Given the description of an element on the screen output the (x, y) to click on. 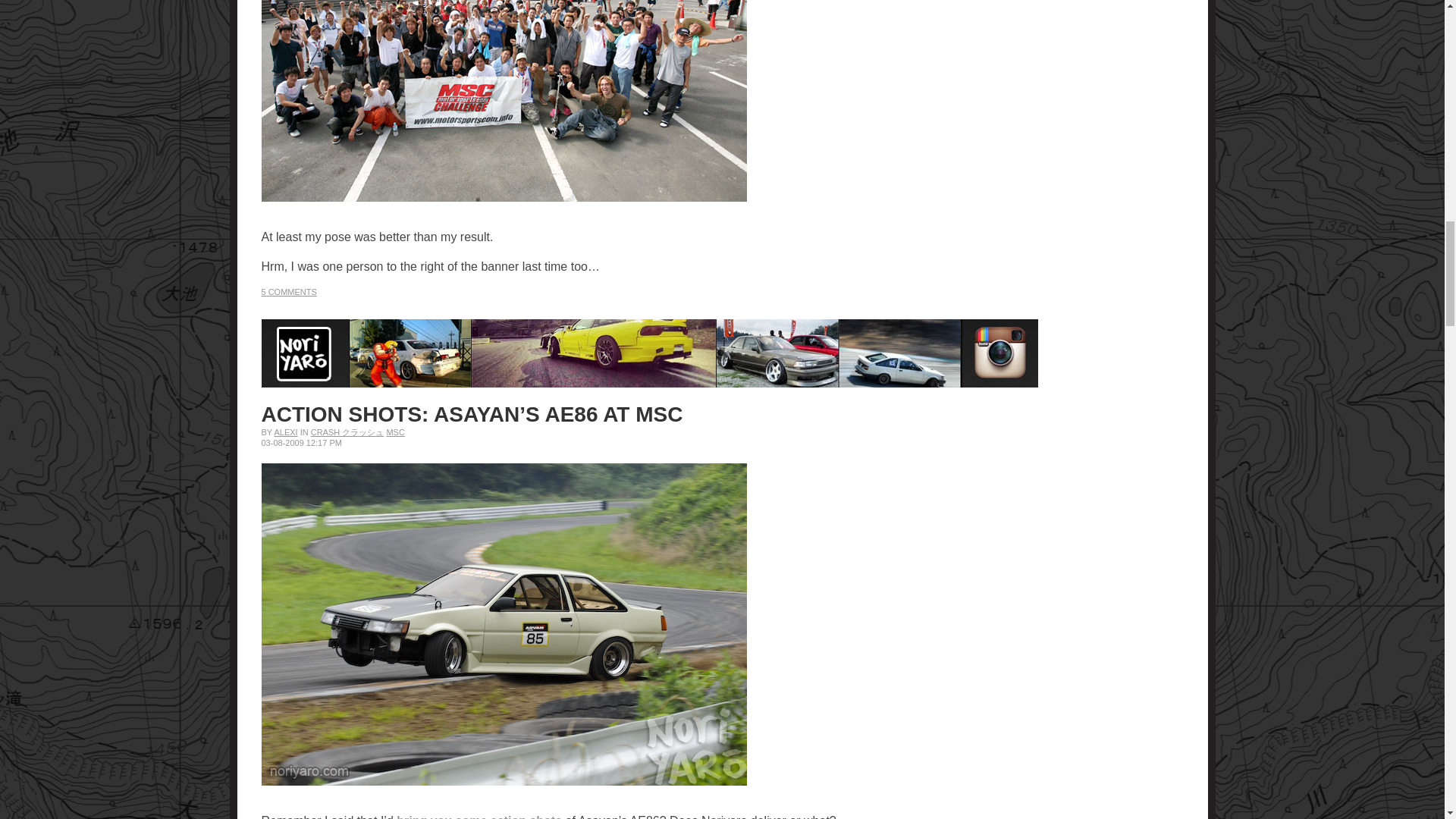
5 COMMENTS (287, 291)
MSC (394, 431)
ALEXI (285, 431)
Posts by Alexi (285, 431)
bring you some action shots (480, 816)
